Given the description of an element on the screen output the (x, y) to click on. 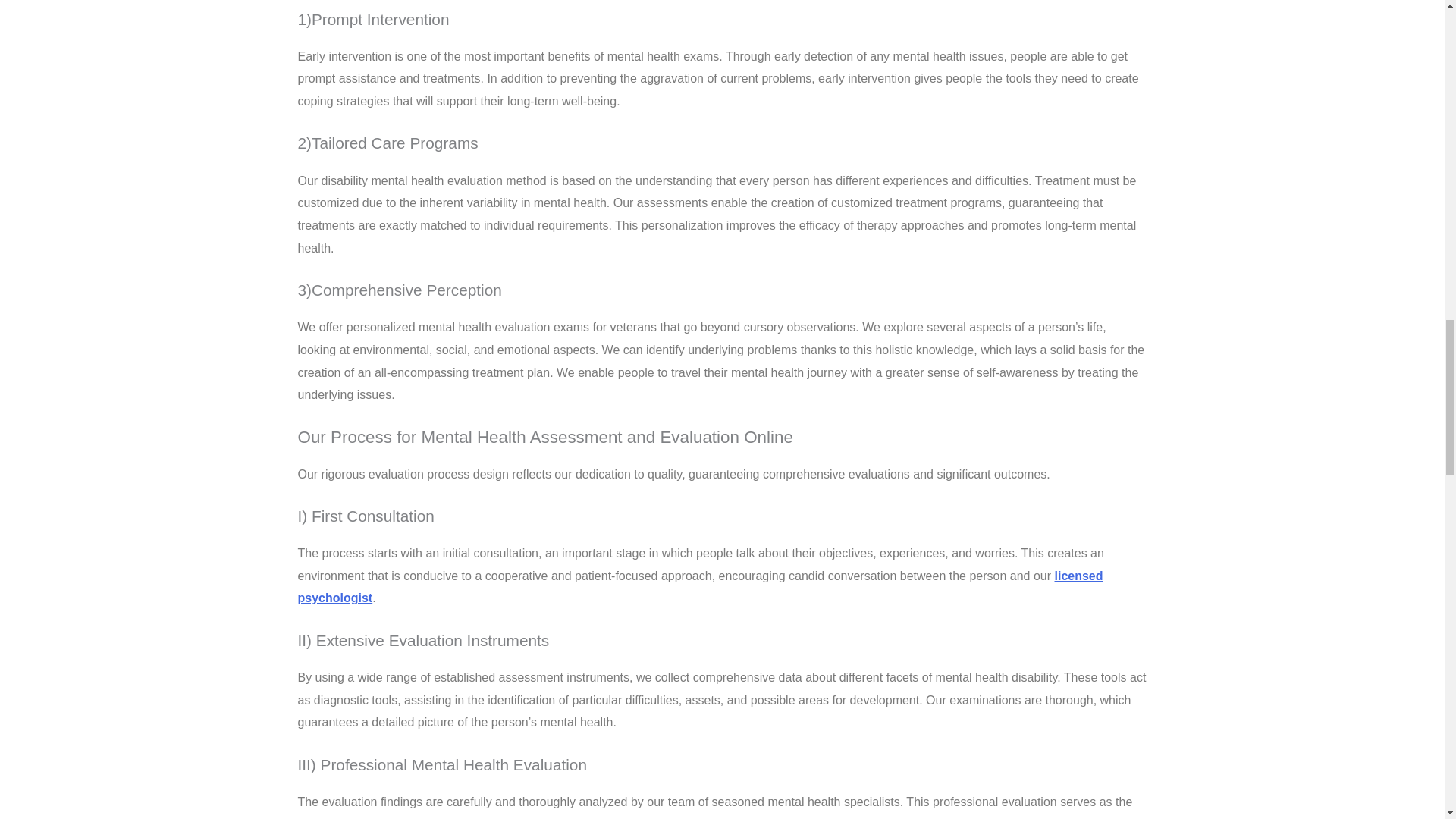
licensed psychologist (699, 587)
